Given the description of an element on the screen output the (x, y) to click on. 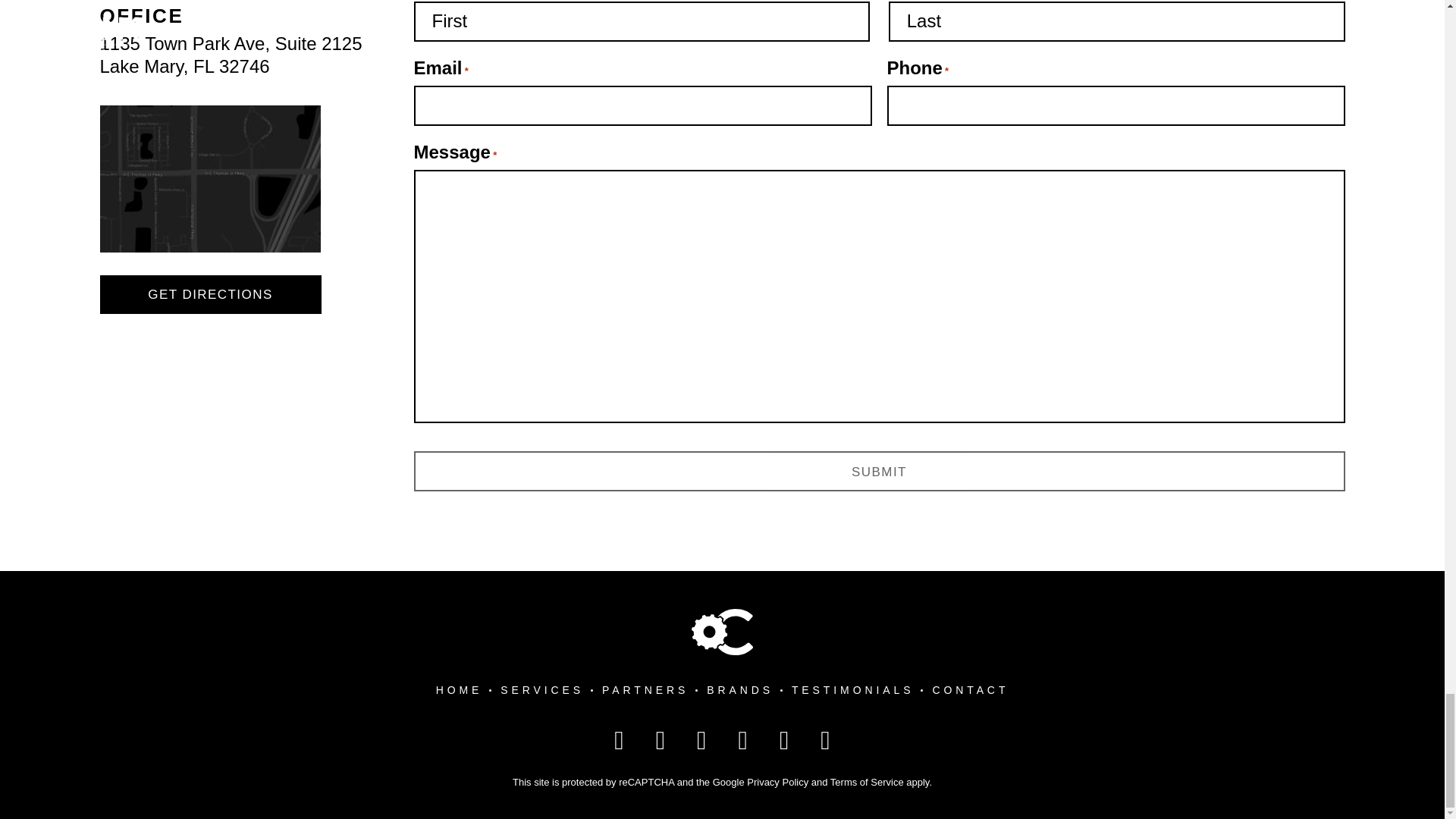
Submit (231, 54)
PARTNERS (879, 471)
Submit (645, 689)
GET DIRECTIONS (879, 471)
HOME (210, 294)
SERVICES (459, 689)
